Given the description of an element on the screen output the (x, y) to click on. 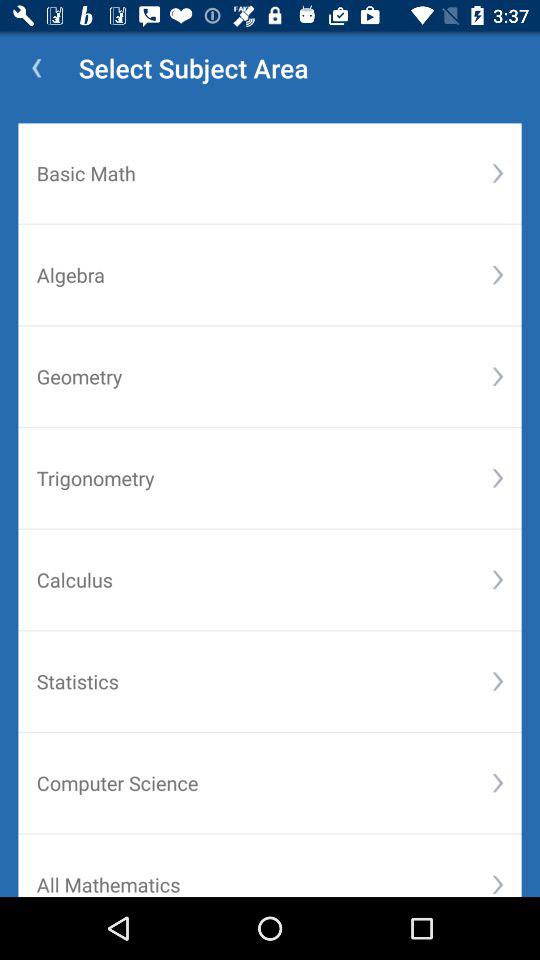
turn off the icon below algebra icon (497, 376)
